Given the description of an element on the screen output the (x, y) to click on. 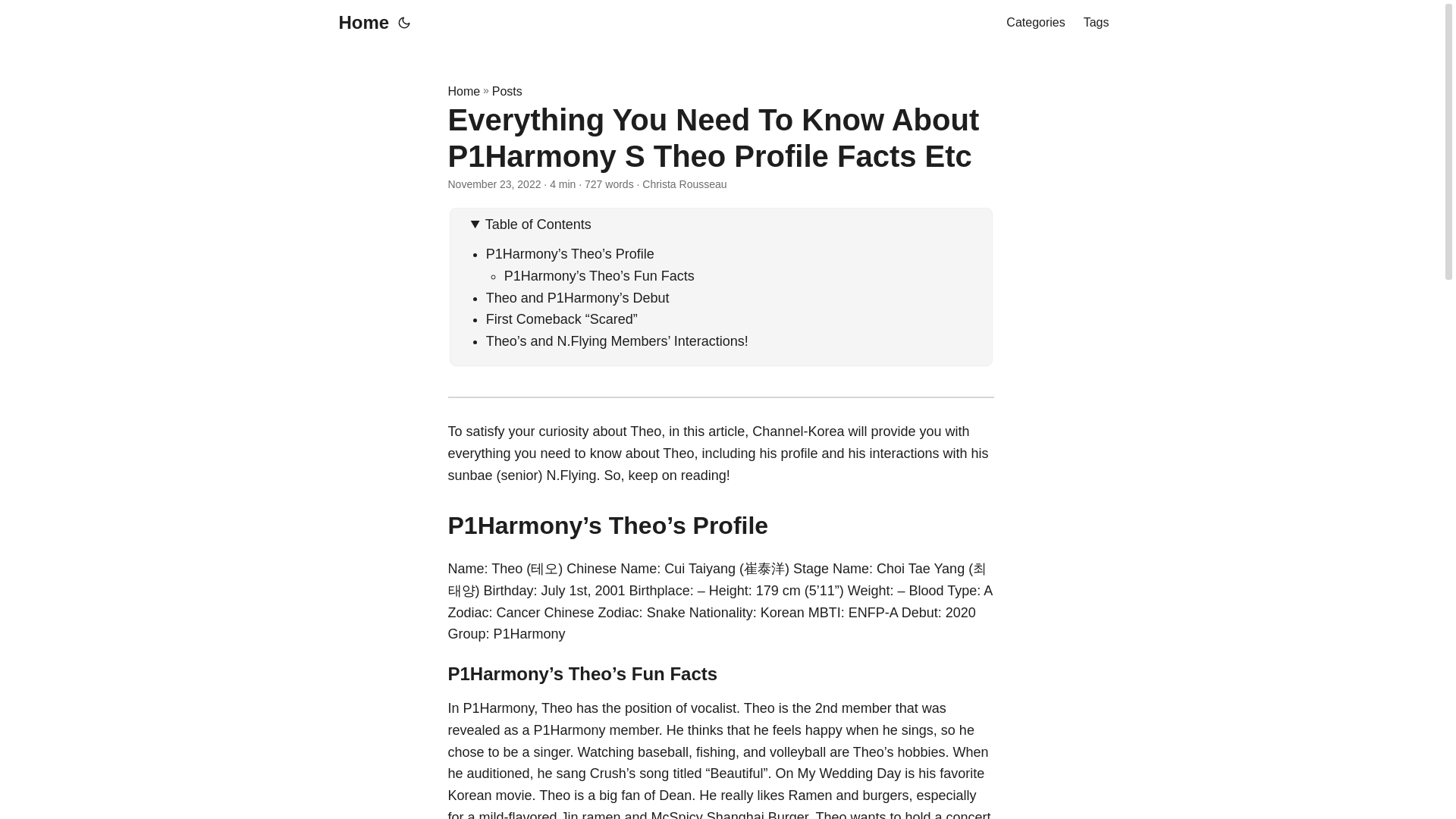
Categories (1035, 22)
Categories (1035, 22)
Home (463, 91)
Posts (507, 91)
Tags (1096, 22)
Home (359, 22)
Tags (1096, 22)
